Given the description of an element on the screen output the (x, y) to click on. 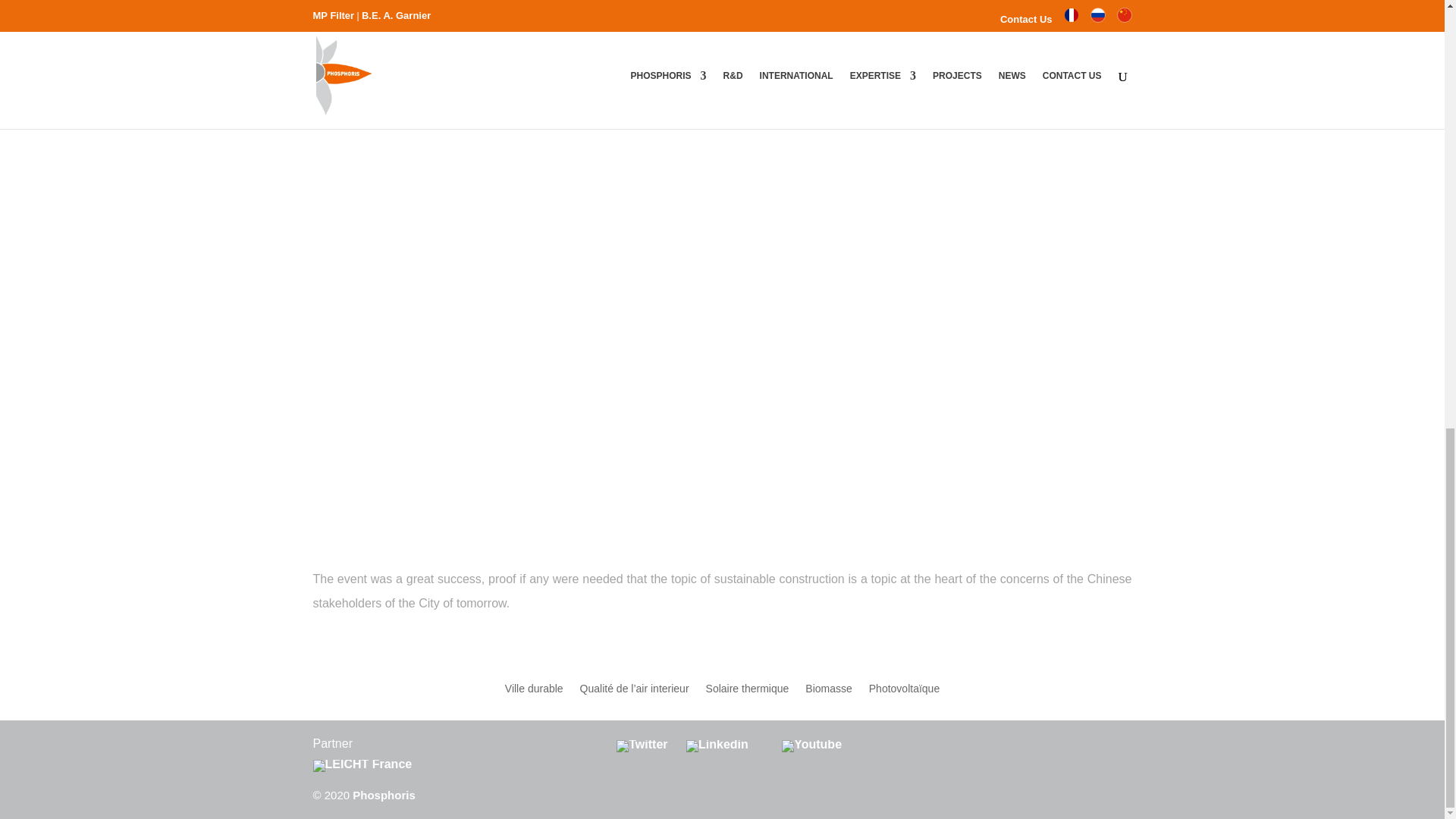
Follow us on  Linkedin (718, 744)
Biomasse (828, 691)
LEICHT France - Structural engineering and special facades (362, 763)
Follow us on Twitter (643, 744)
Subscribe to our Youtube channel (811, 744)
Ville durable (534, 691)
Solaire thermique (747, 691)
